Given the description of an element on the screen output the (x, y) to click on. 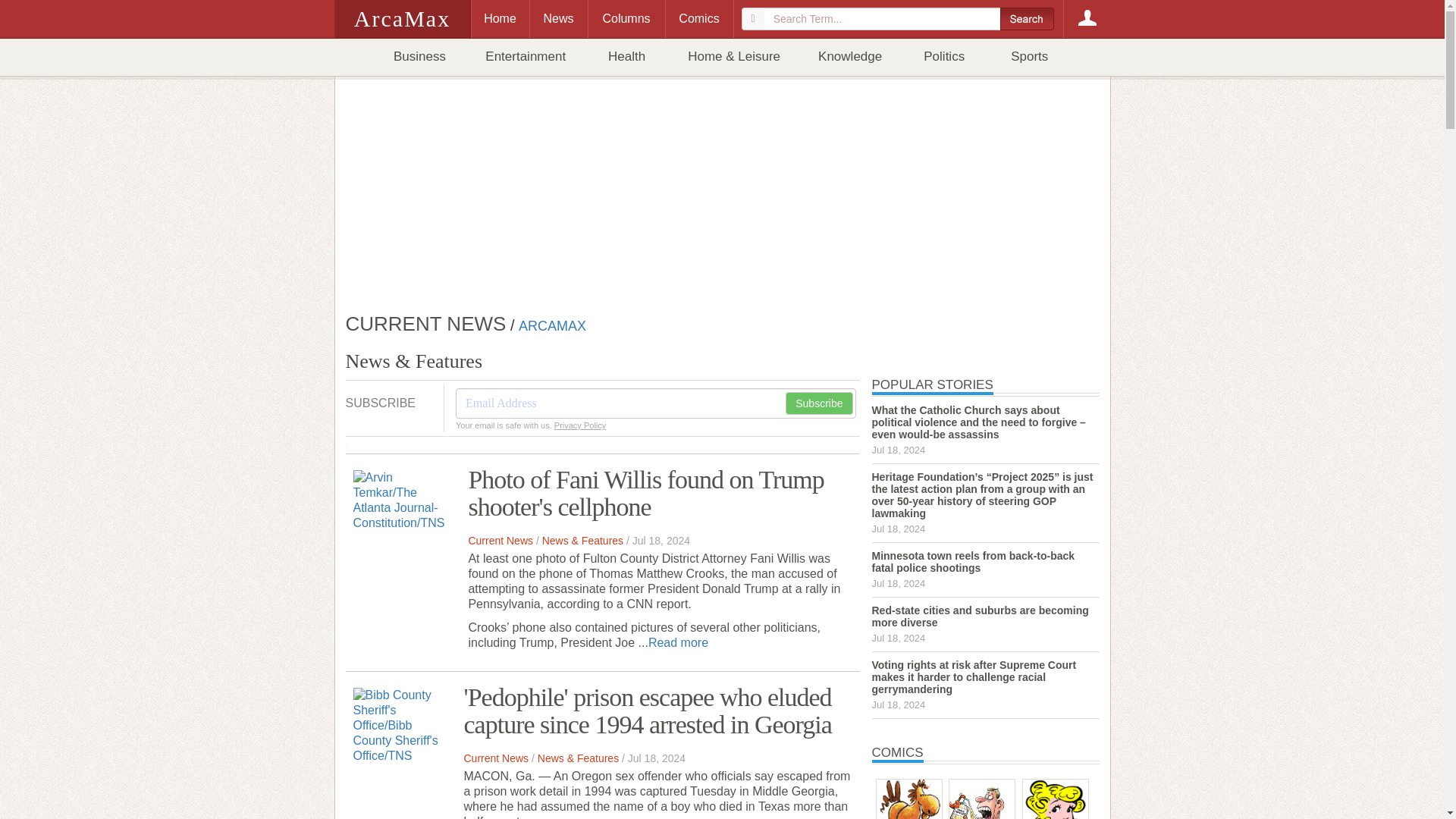
Read more (677, 642)
Entertainment (525, 57)
Photo of Fani Willis found on Trump shooter's cellphone (645, 493)
CURRENT NEWS (426, 322)
Knowledge (850, 57)
ArcaMax (401, 18)
Politics (944, 57)
Subscribe (818, 403)
Business (419, 57)
Home (499, 18)
Sports (1029, 57)
ARCAMAX (552, 324)
Current News (499, 540)
Comics (697, 18)
